Given the description of an element on the screen output the (x, y) to click on. 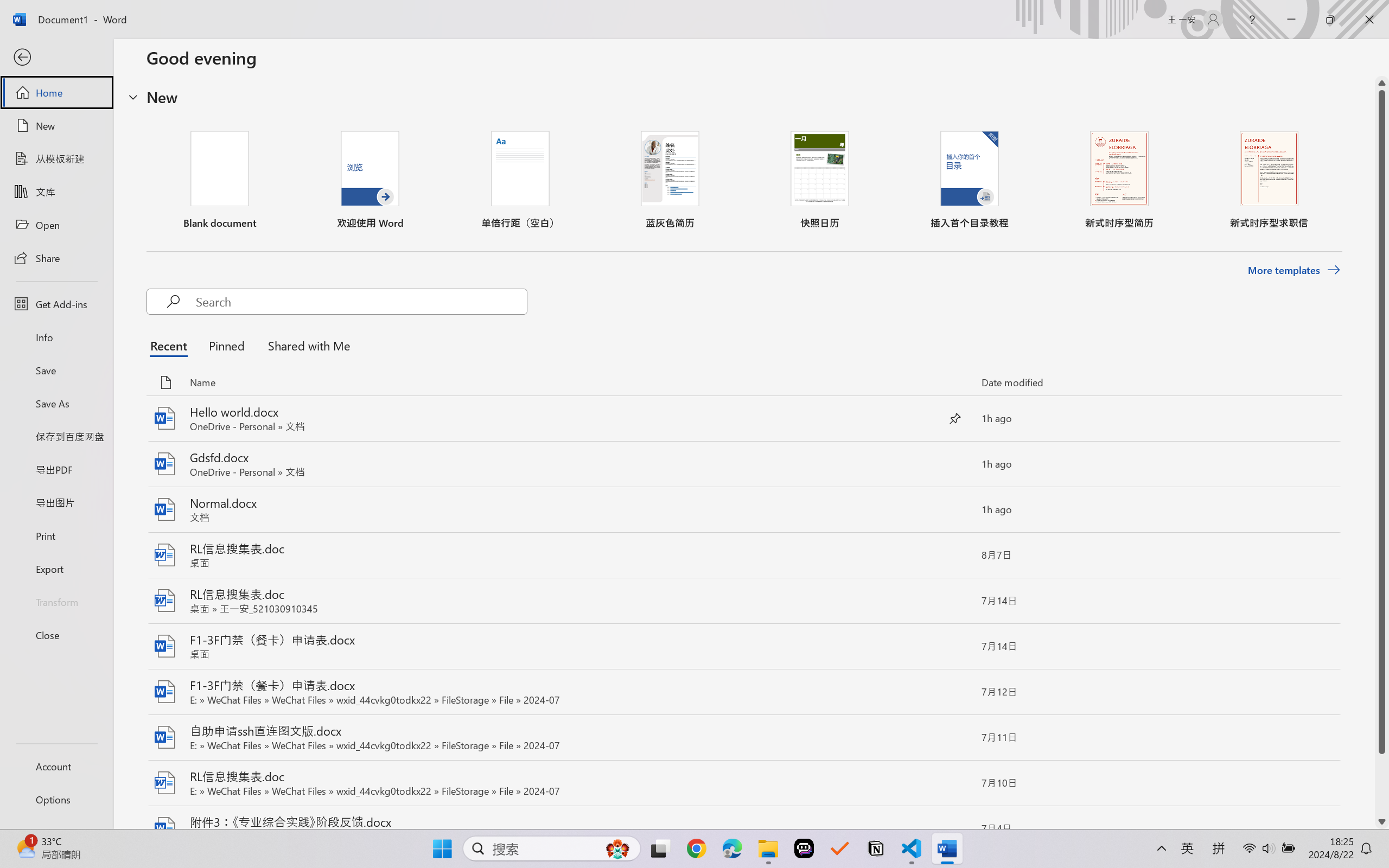
Transform (56, 601)
Pinned (226, 345)
Pin this item to the list (954, 828)
Search (360, 301)
